Given the description of an element on the screen output the (x, y) to click on. 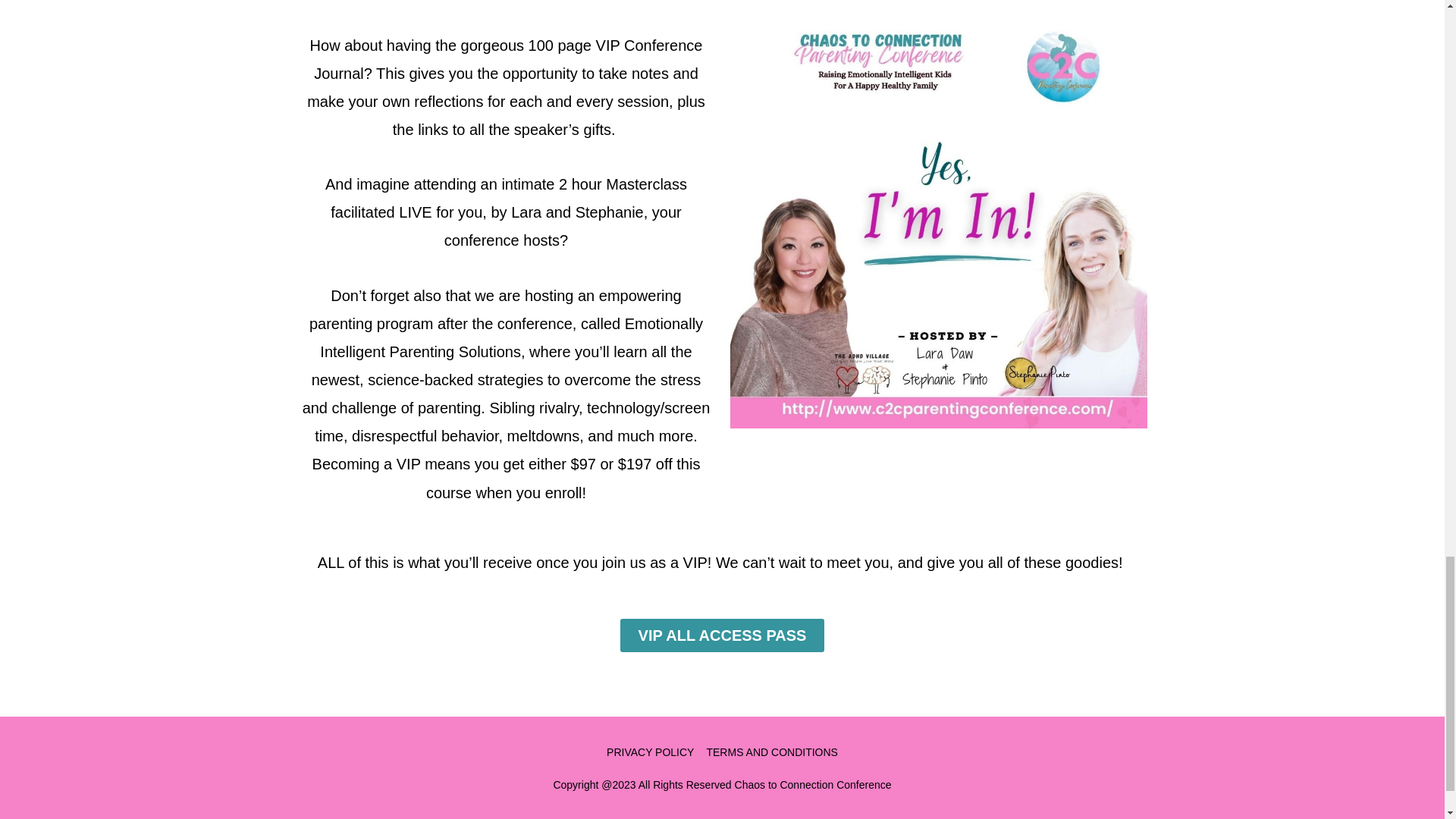
VIP ALL ACCESS PASS (722, 635)
PRIVACY POLICY (650, 752)
TERMS AND CONDITIONS (771, 752)
